Given the description of an element on the screen output the (x, y) to click on. 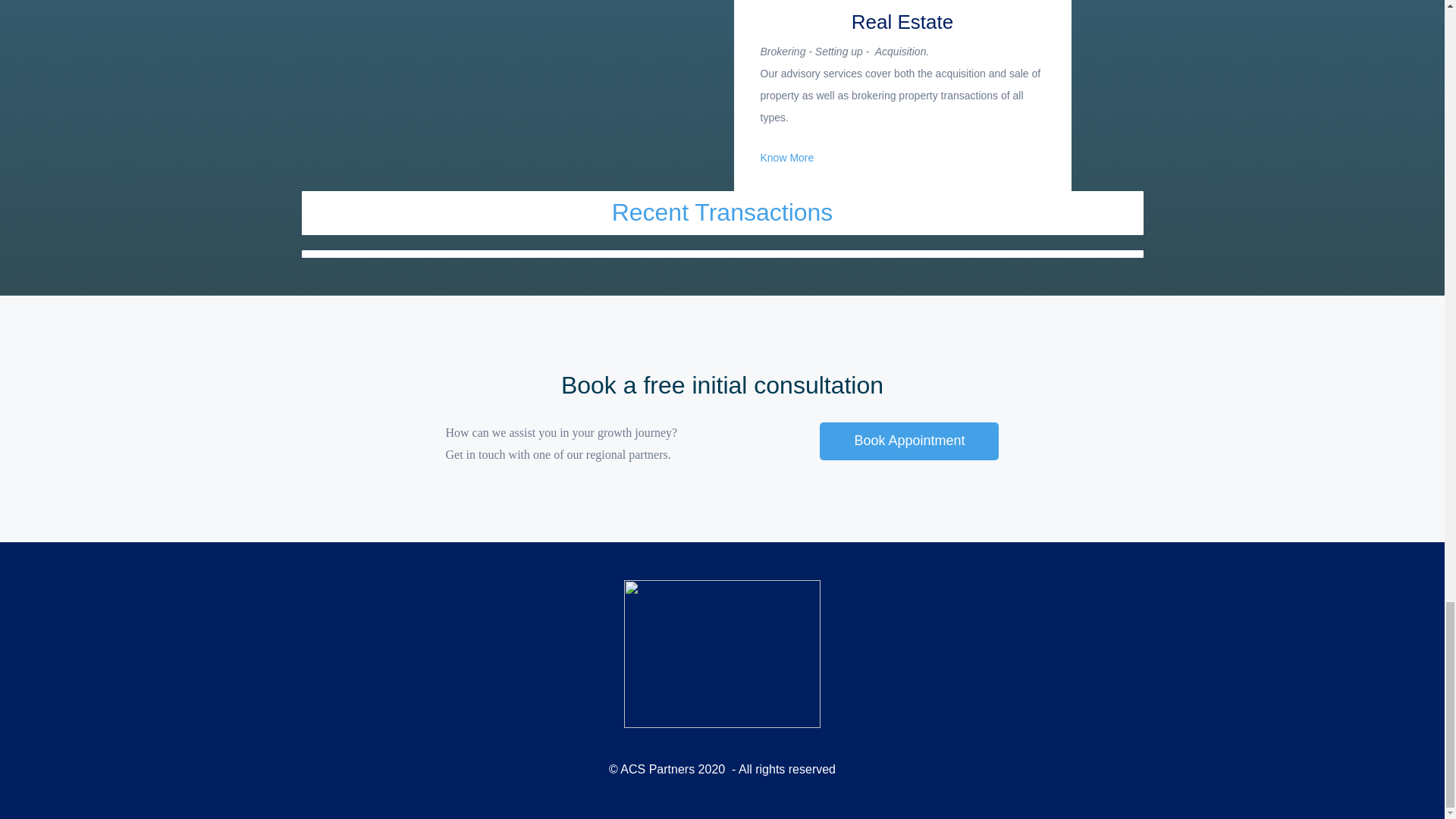
Recent Transactions (721, 212)
Recent Transactions (721, 212)
Know More (786, 158)
Book Appointment (908, 441)
